Given the description of an element on the screen output the (x, y) to click on. 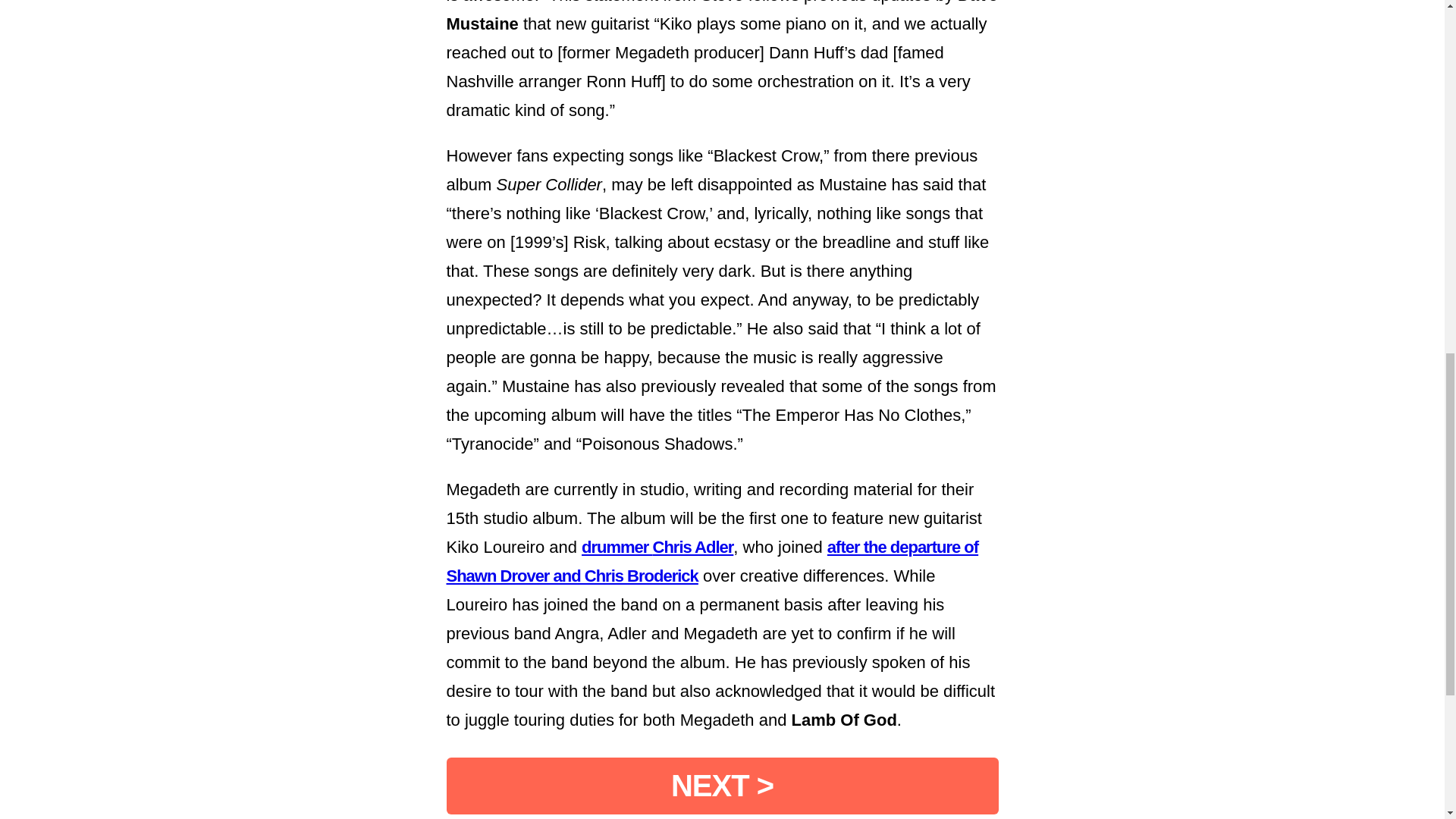
drummer Chris Adler (656, 546)
after the departure of Shawn Drover and Chris Broderick (711, 561)
